Given the description of an element on the screen output the (x, y) to click on. 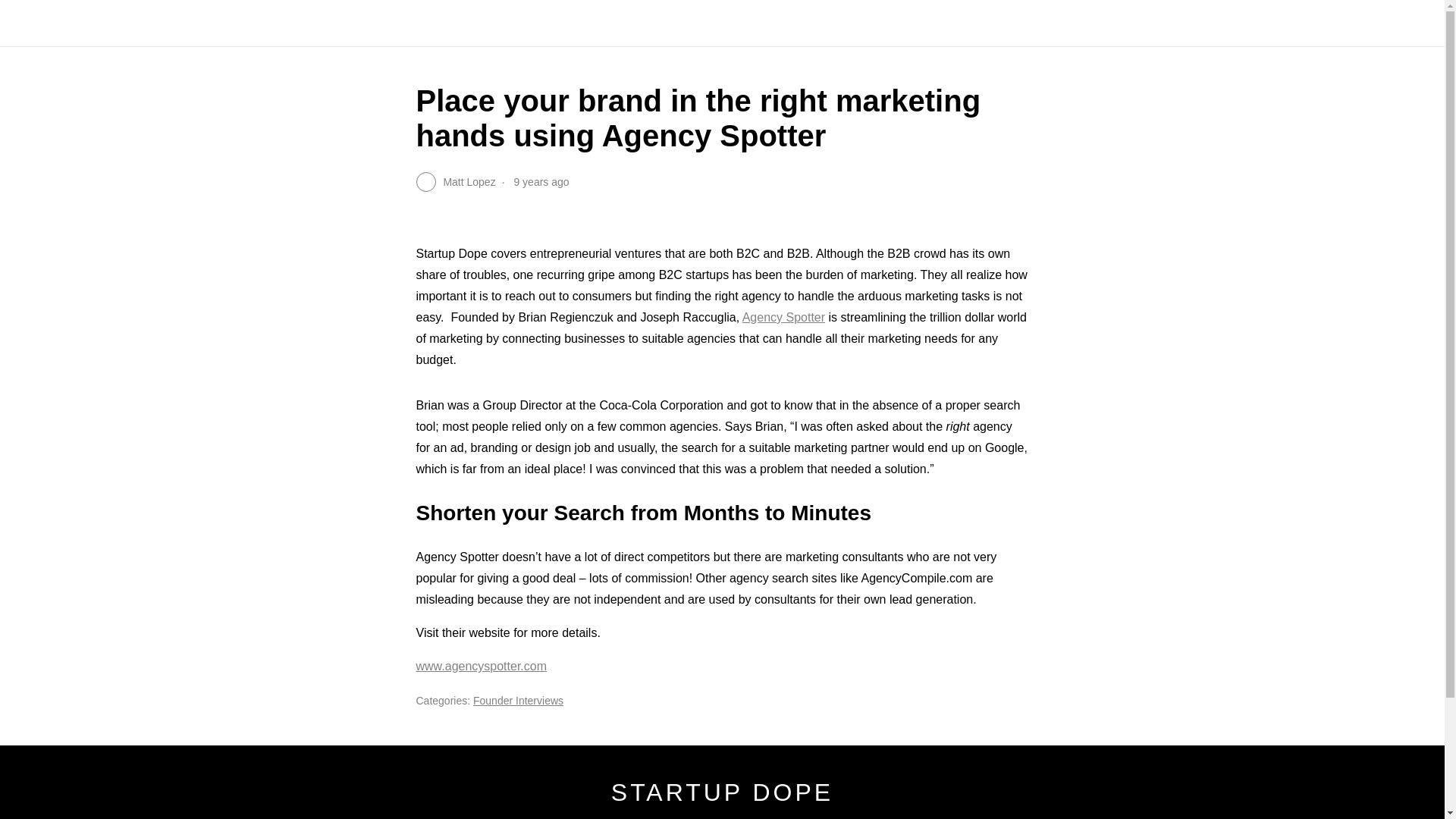
Agency Spotter (783, 317)
www.agencyspotter.com (480, 666)
Agency Spotter (480, 666)
Founder Interviews (518, 700)
Agency Spotter (783, 317)
